Given the description of an element on the screen output the (x, y) to click on. 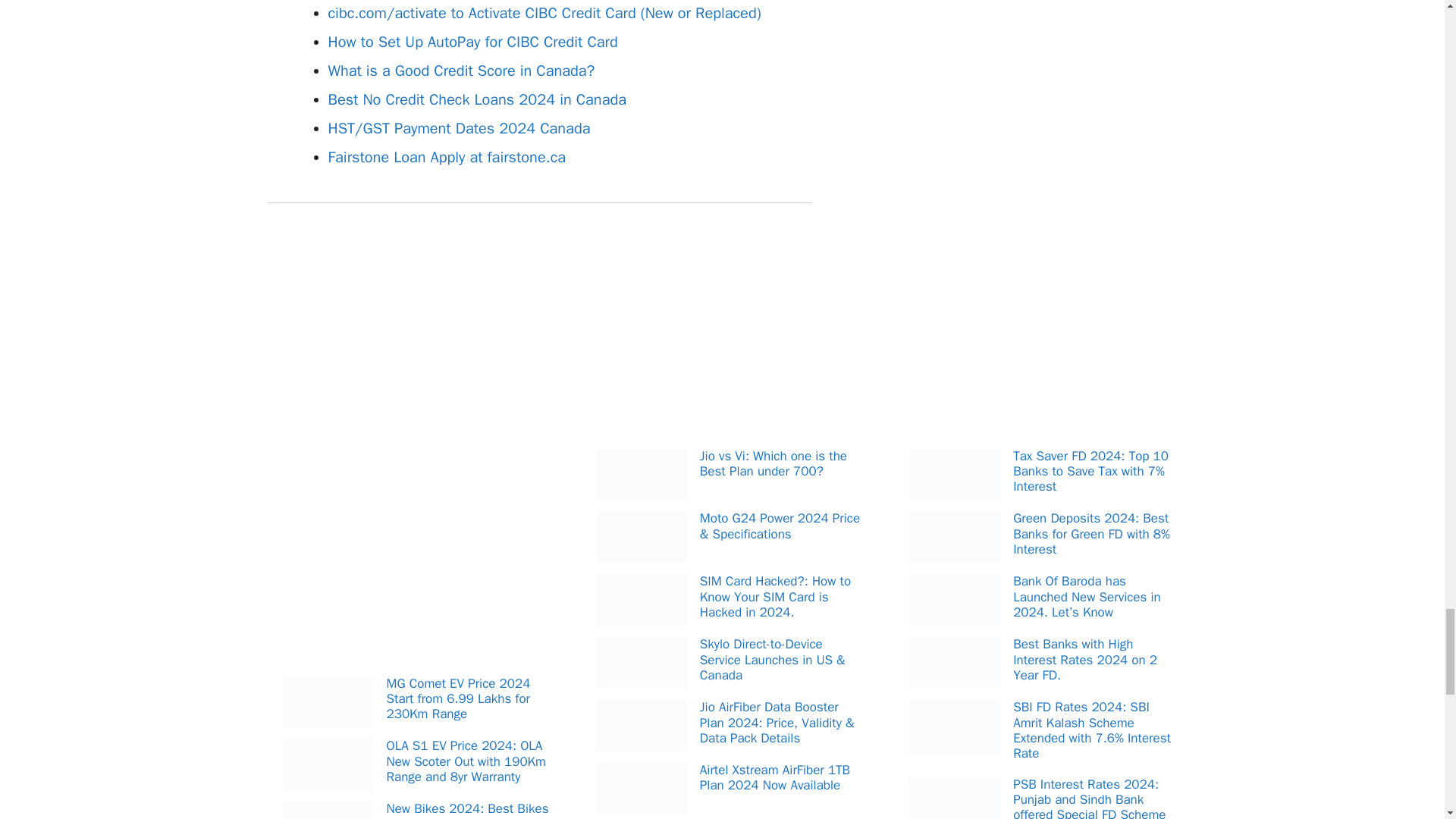
Best No Credit Check Loans 2024 in Canada (476, 99)
How to Set Up AutoPay for CIBC Credit Card (472, 41)
What is a Good Credit Score in Canada? (460, 70)
Fairstone Loan Apply at fairstone.ca (446, 157)
